Given the description of an element on the screen output the (x, y) to click on. 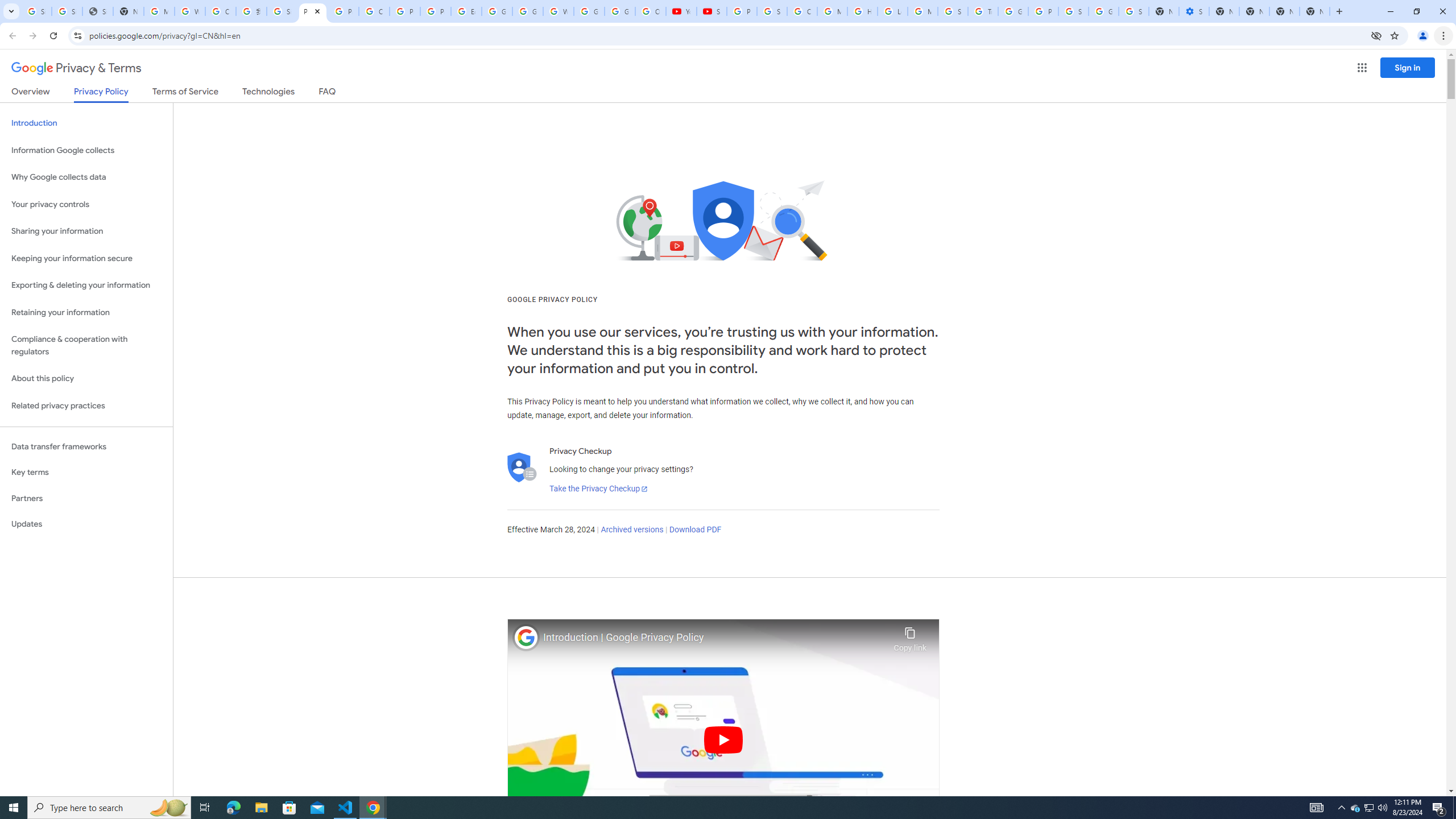
Sign in (1407, 67)
Who is my administrator? - Google Account Help (189, 11)
Google Account (619, 11)
Welcome to My Activity (558, 11)
Keeping your information secure (86, 258)
Introduction (86, 122)
Settings - Performance (1193, 11)
